Given the description of an element on the screen output the (x, y) to click on. 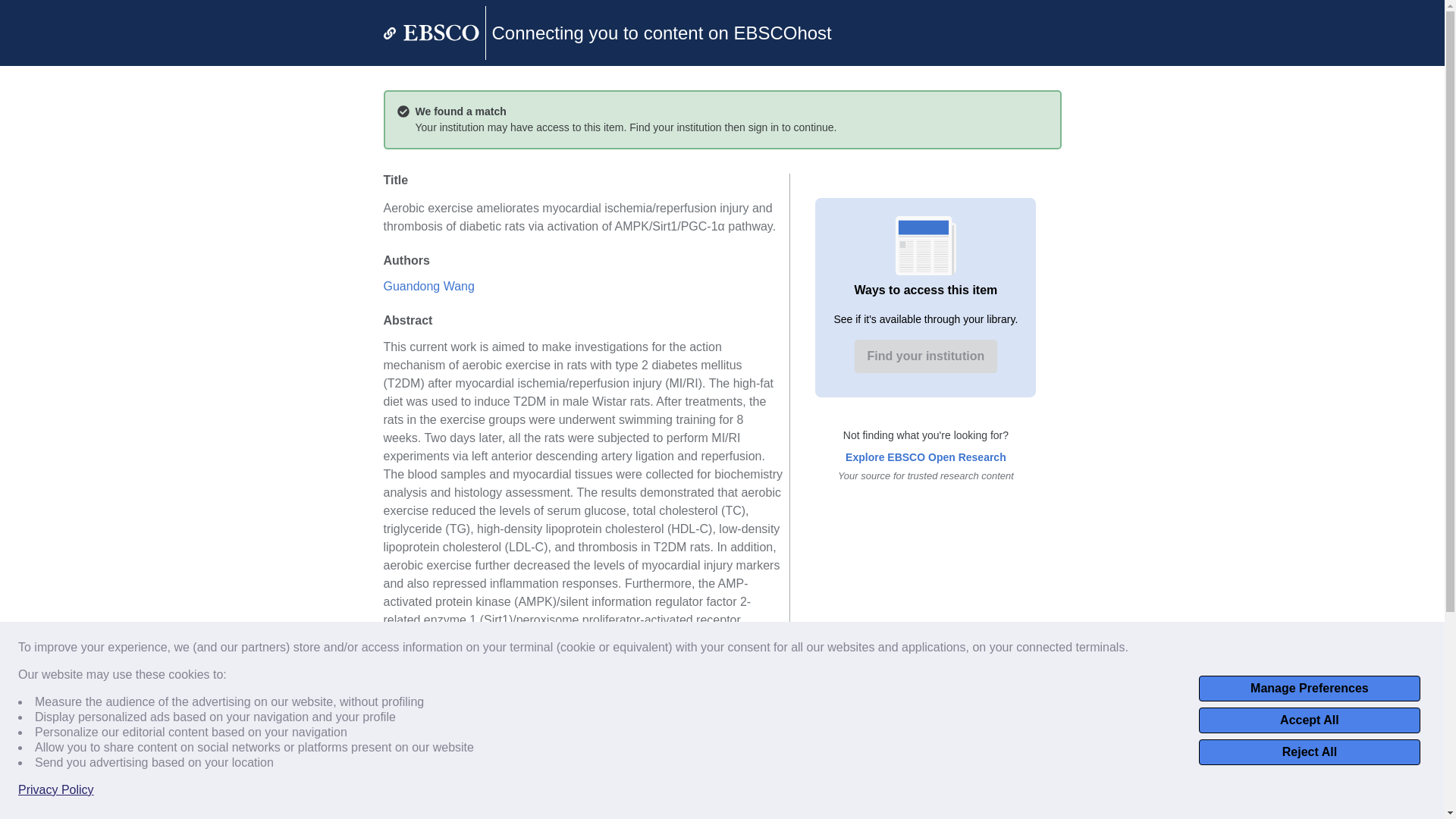
Guandong Wang (429, 286)
Explore EBSCO Open Research (925, 457)
Privacy Policy (55, 789)
Manage Preferences (1309, 688)
Find your institution (925, 356)
Accept All (1309, 720)
Reject All (1309, 751)
